Given the description of an element on the screen output the (x, y) to click on. 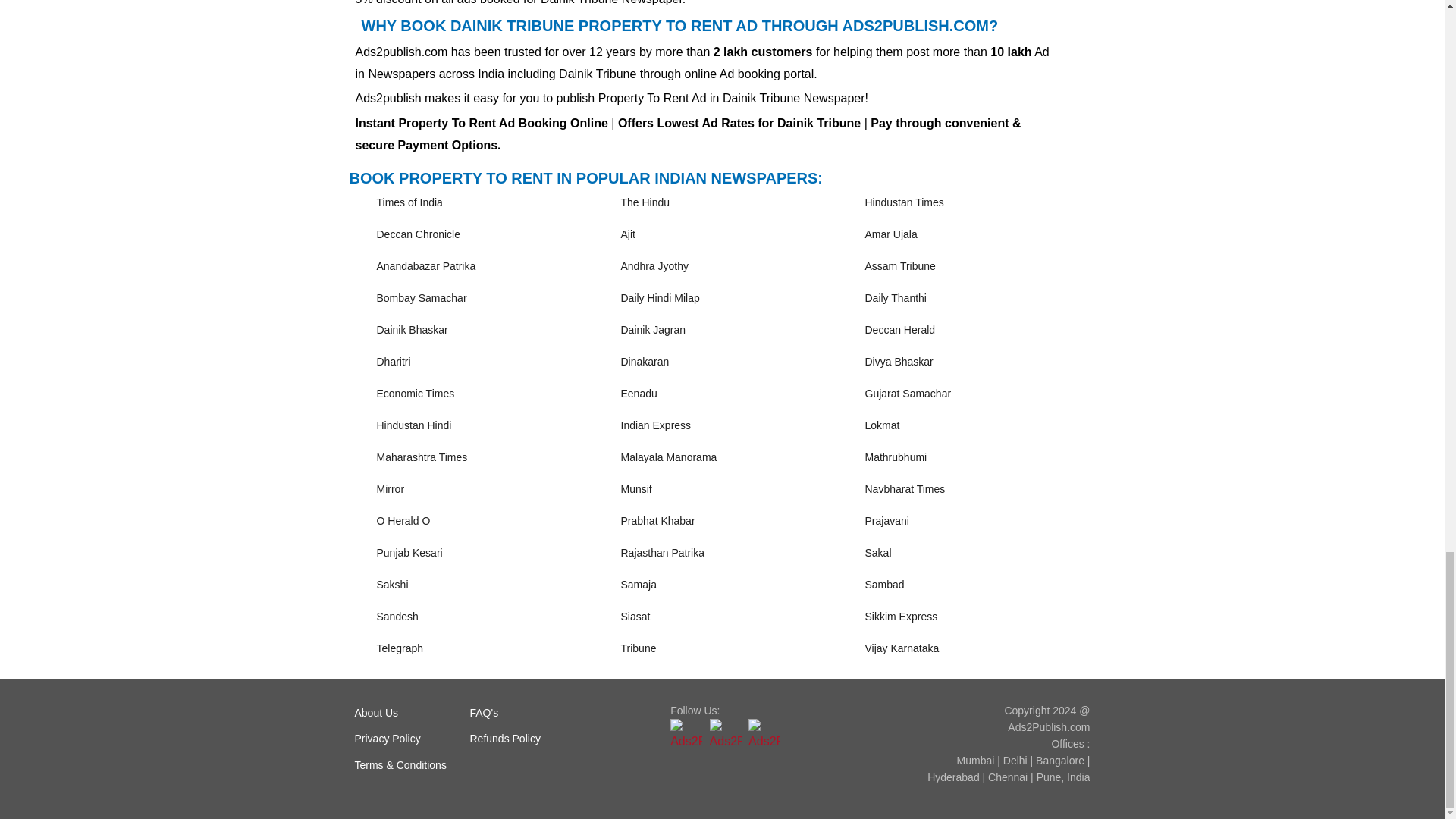
Dinakaran (644, 361)
Divya Bhaskar Property To Rent Ad (898, 361)
Times of India Property To Rent Ad (408, 202)
Malayala Manorama (668, 457)
Dainik Jagran (652, 329)
Amar Ujala Property To Rent Ad (890, 234)
Dinakaran Property To Rent Ad (644, 361)
Dainik Bhaskar (410, 329)
Assam Tribune (899, 265)
Deccan Herald Property To Rent Ad (899, 329)
